Given the description of an element on the screen output the (x, y) to click on. 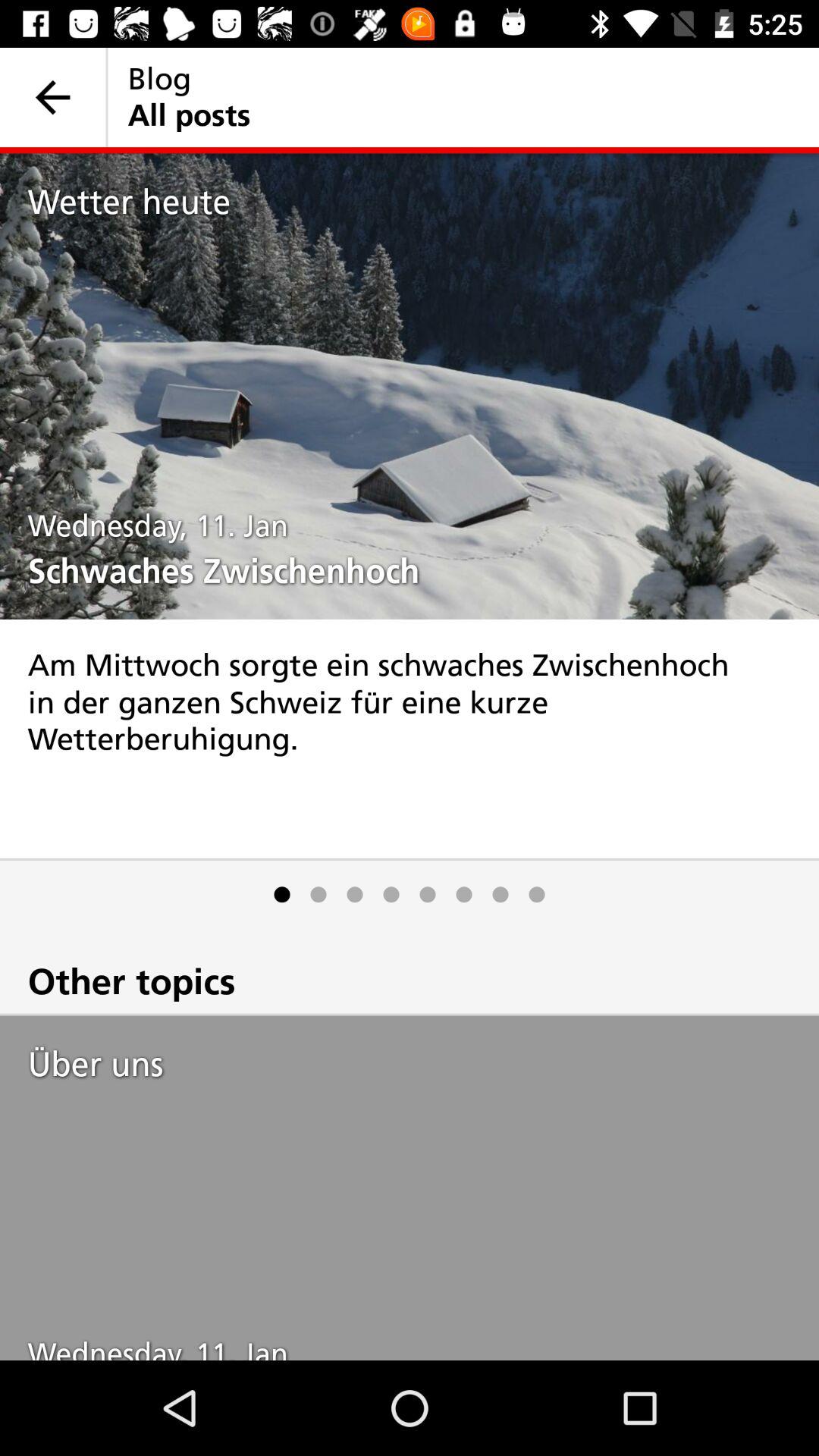
select the item to the left of the blog icon (52, 97)
